Given the description of an element on the screen output the (x, y) to click on. 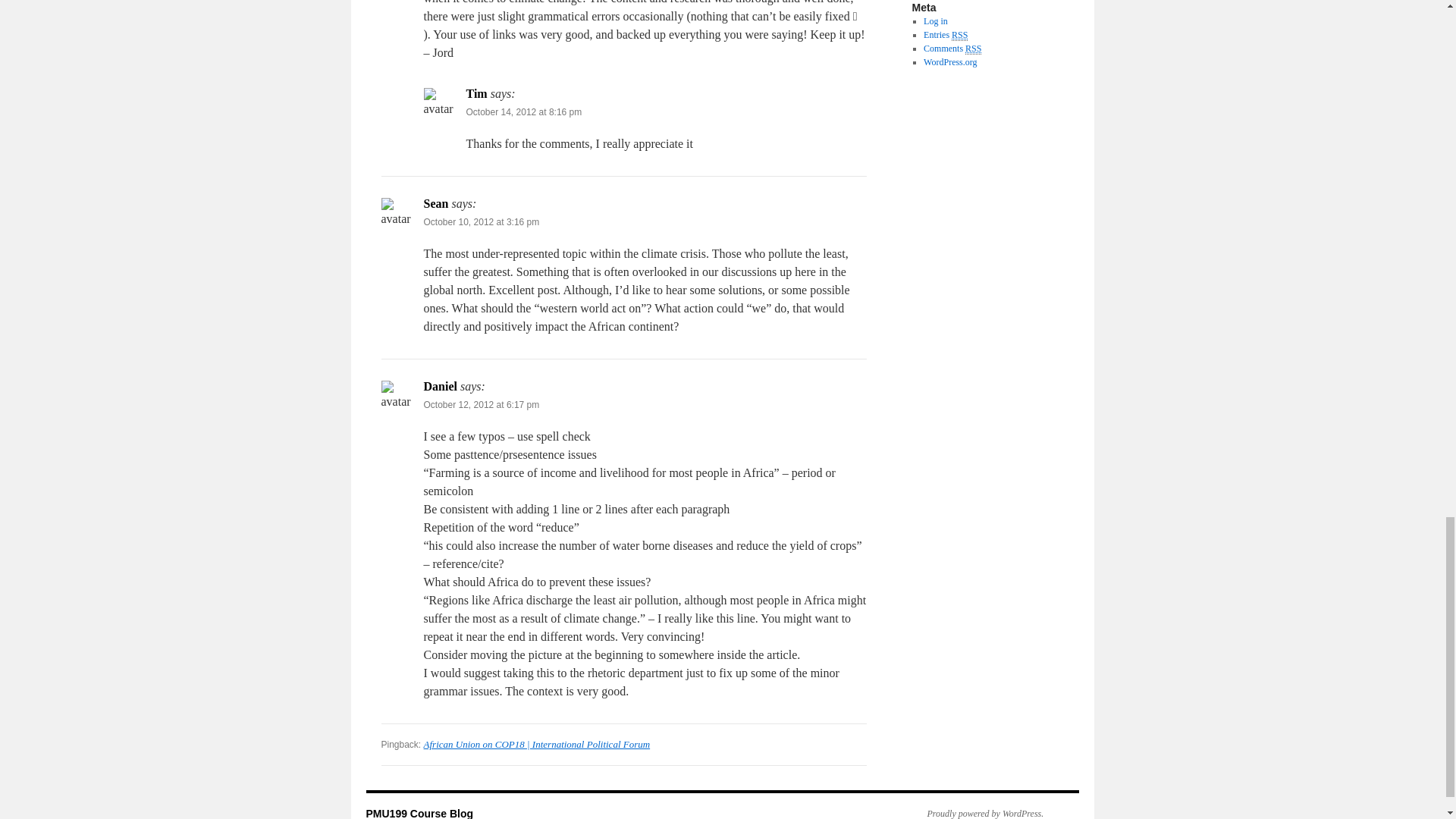
Really Simple Syndication (960, 34)
Really Simple Syndication (973, 48)
October 10, 2012 at 3:16 pm (480, 222)
October 14, 2012 at 8:16 pm (522, 112)
October 12, 2012 at 6:17 pm (480, 404)
